Given the description of an element on the screen output the (x, y) to click on. 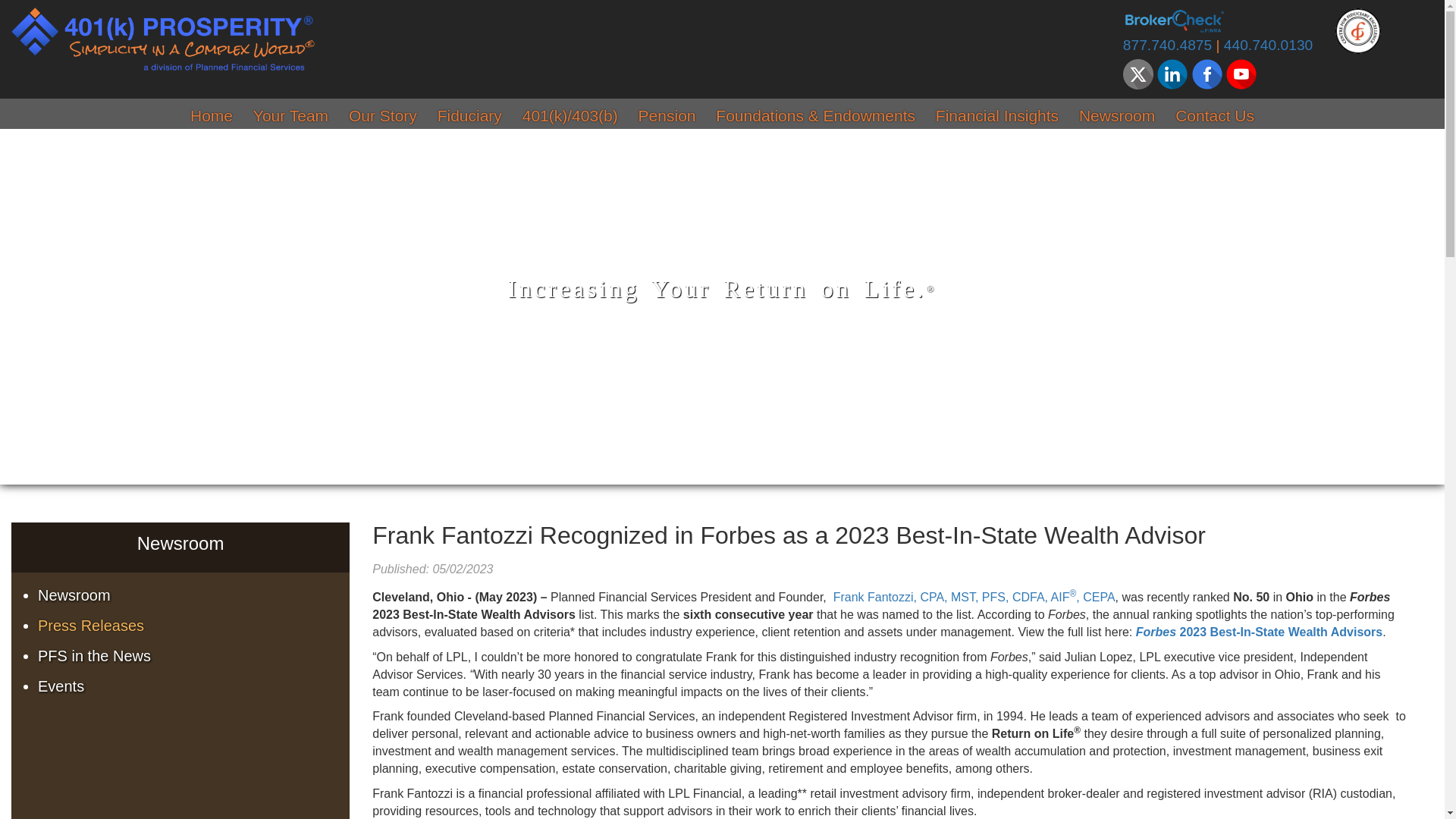
Home Element type: text (211, 117)
Fiduciary Element type: text (469, 117)
401(k)/403(b) Element type: text (570, 117)
Pension Element type: text (667, 117)
Financial Insights Element type: text (996, 117)
Your Team Element type: text (290, 117)
877.740.4875 Element type: text (1167, 45)
Newsroom Element type: text (193, 595)
Newsroom Element type: text (1116, 117)
Forbes 2023 Best-In-State Wealth Advisors Element type: text (1258, 631)
440.740.0130 Element type: text (1267, 45)
Foundations & Endowments Element type: text (815, 117)
Events Element type: text (193, 686)
Our Story Element type: text (382, 117)
PFS in the News Element type: text (193, 655)
CEFEX Element type: hover (1357, 29)
Contact Us Element type: text (1214, 117)
Press Releases Element type: text (193, 625)
